Given the description of an element on the screen output the (x, y) to click on. 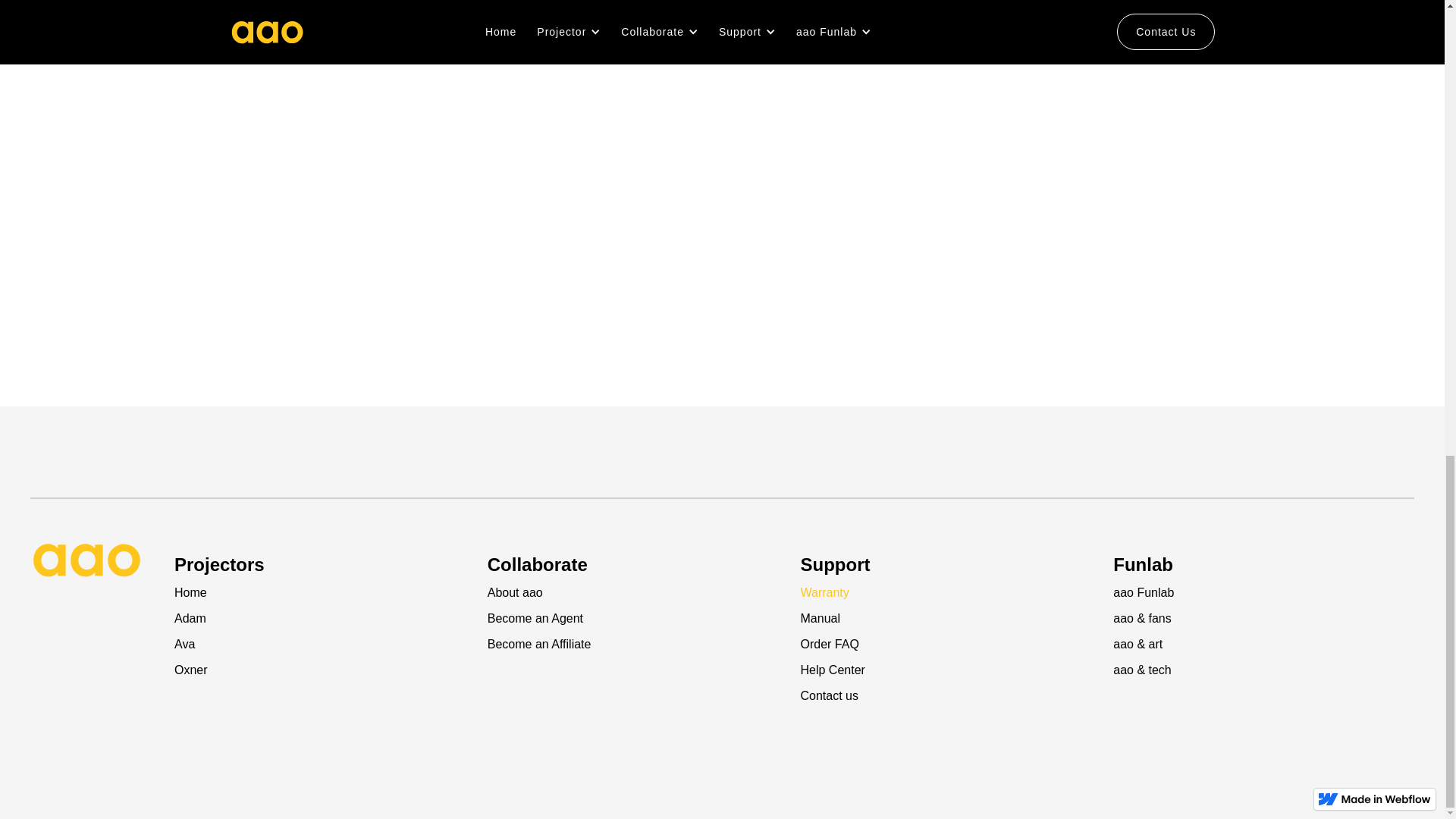
Warranty (951, 592)
Oxner (325, 669)
Ava (325, 644)
Home (325, 592)
About aao (638, 592)
Become an Affiliate (638, 644)
Manual (951, 618)
Adam (325, 618)
Become an Agent (638, 618)
